Given the description of an element on the screen output the (x, y) to click on. 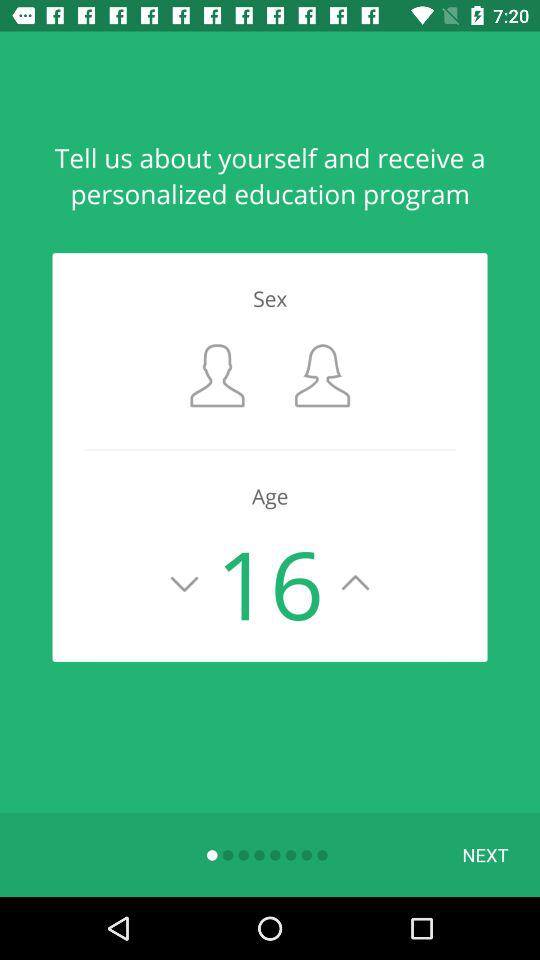
orange box flashing for selecting sex (322, 375)
